Given the description of an element on the screen output the (x, y) to click on. 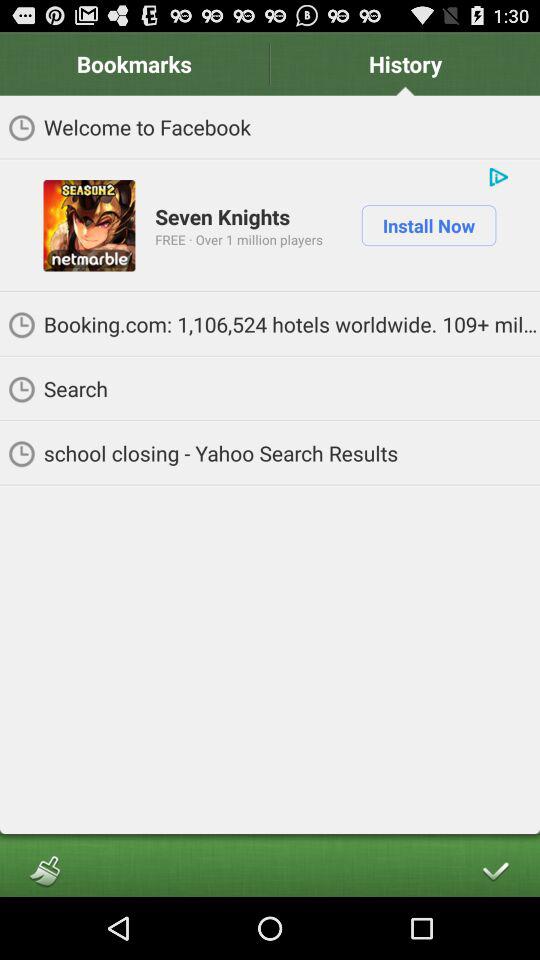
click free over 1 icon (238, 239)
